Given the description of an element on the screen output the (x, y) to click on. 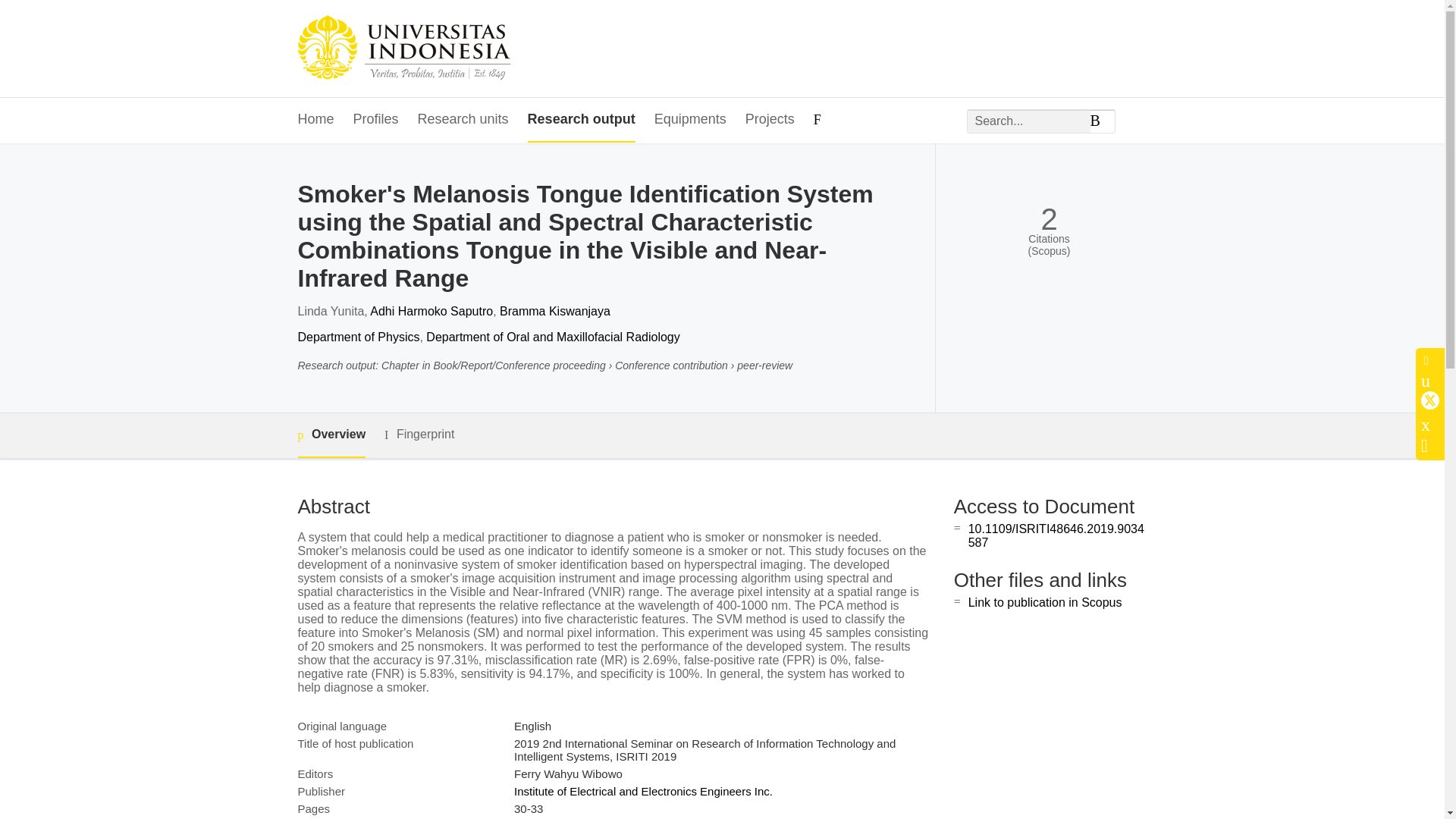
Institute of Electrical and Electronics Engineers Inc. (643, 790)
Bramma Kiswanjaya (554, 310)
Profiles (375, 119)
Research units (462, 119)
Research output (580, 119)
Equipments (689, 119)
Projects (769, 119)
Universitas Indonesia Home (403, 48)
Fingerprint (419, 434)
Adhi Harmoko Saputro (431, 310)
Department of Oral and Maxillofacial Radiology (552, 336)
Overview (331, 435)
Department of Physics (358, 336)
Link to publication in Scopus (1045, 602)
